Given the description of an element on the screen output the (x, y) to click on. 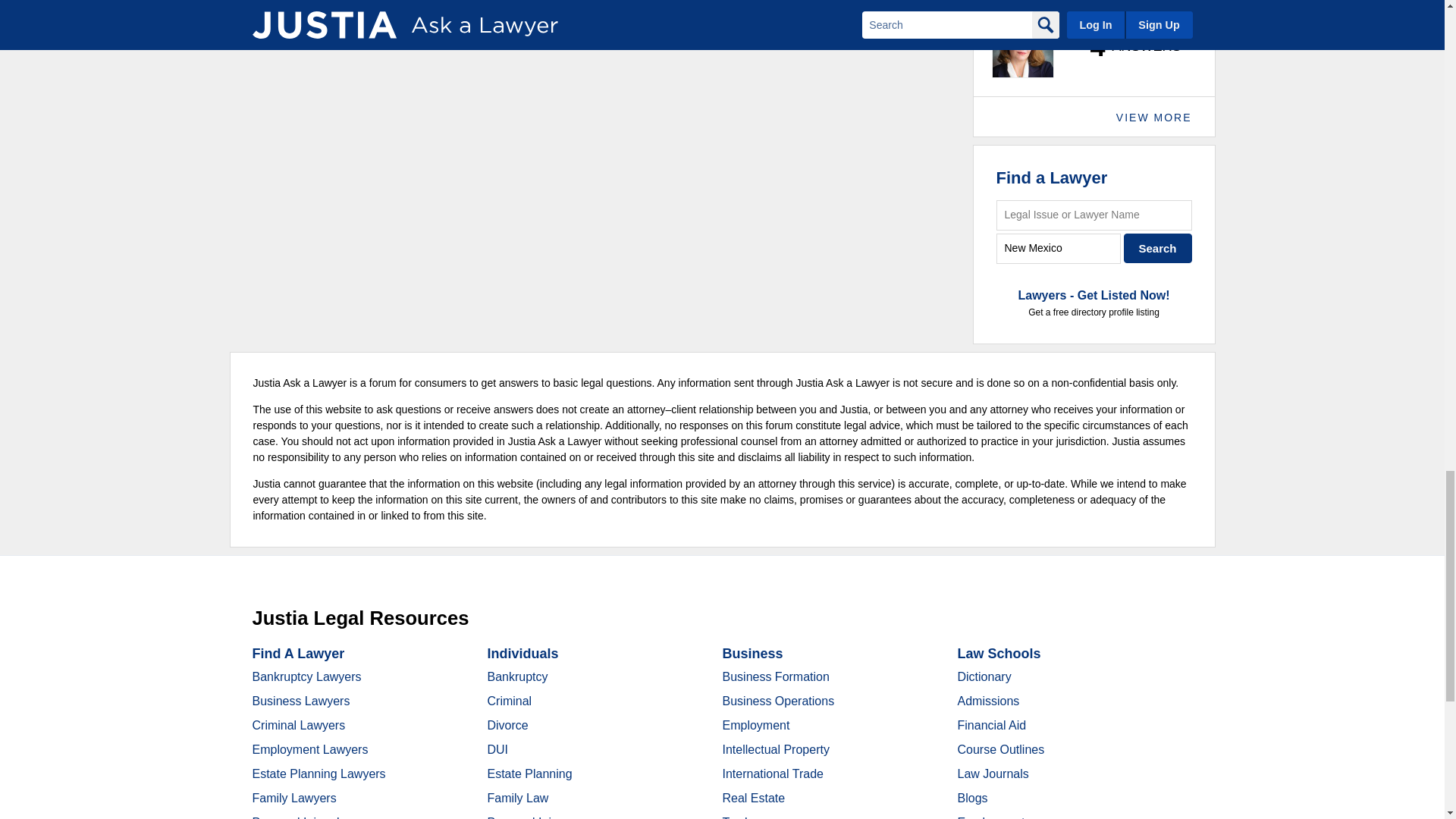
Ask a Lawyer - Leaderboard - Lawyer Photo (1021, 46)
Ask a Lawyer - Leaderboard - Lawyer Stats (1127, 46)
Search (1158, 247)
City, State (1058, 247)
New Mexico (1058, 247)
Search (1158, 247)
Ask a Lawyer - Leaderboard - Lawyer Name (1058, 5)
Legal Issue or Lawyer Name (1093, 214)
